Given the description of an element on the screen output the (x, y) to click on. 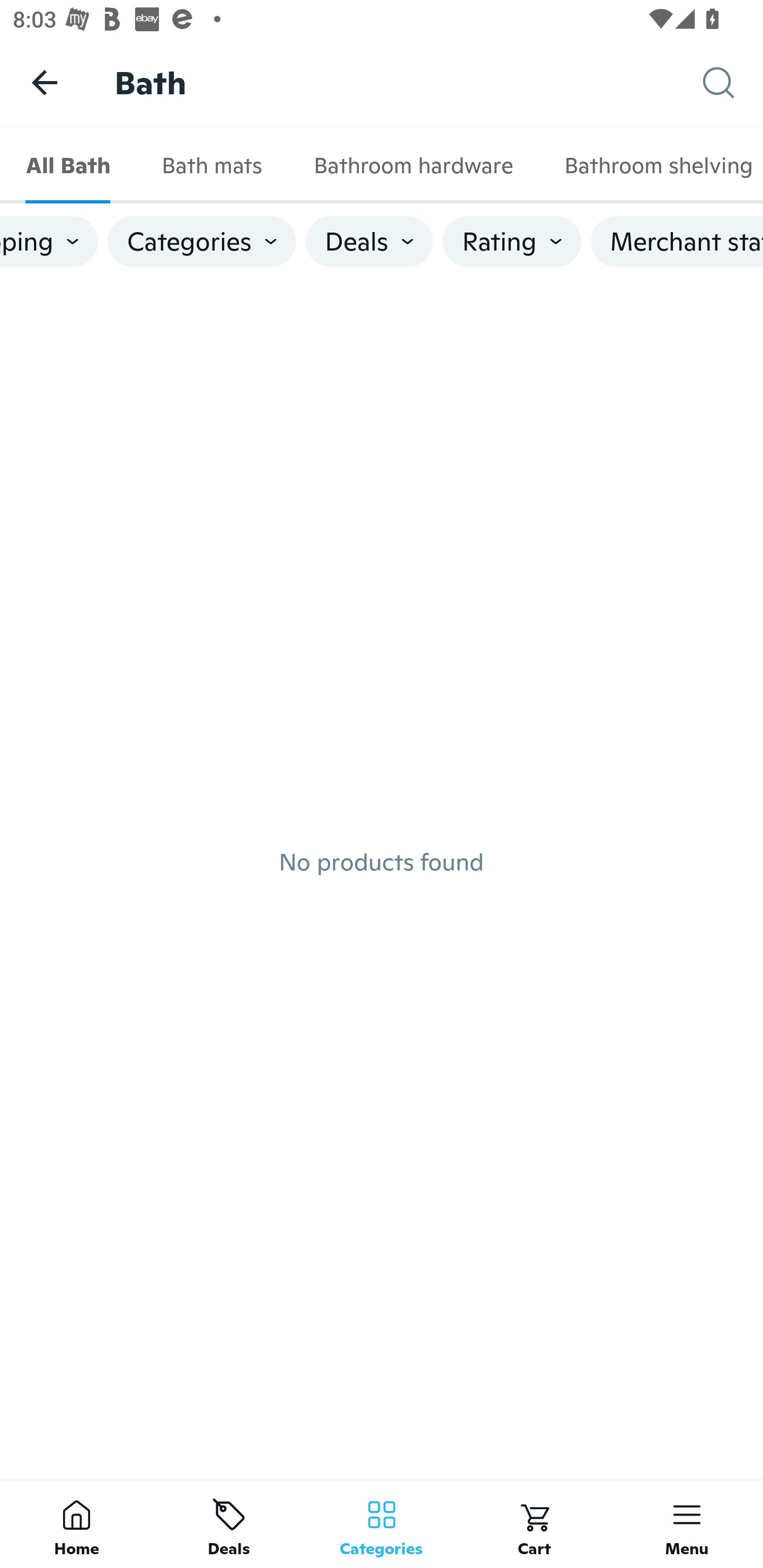
Navigate up (44, 82)
Search (732, 82)
All Bath (67, 165)
Bath mats (211, 165)
Bathroom hardware (412, 165)
Bathroom shelving (650, 165)
Shipping (48, 241)
Categories (201, 241)
Deals (368, 241)
Rating (511, 241)
Merchant status (676, 241)
Home (76, 1523)
Deals (228, 1523)
Categories (381, 1523)
Cart (533, 1523)
Menu (686, 1523)
